Given the description of an element on the screen output the (x, y) to click on. 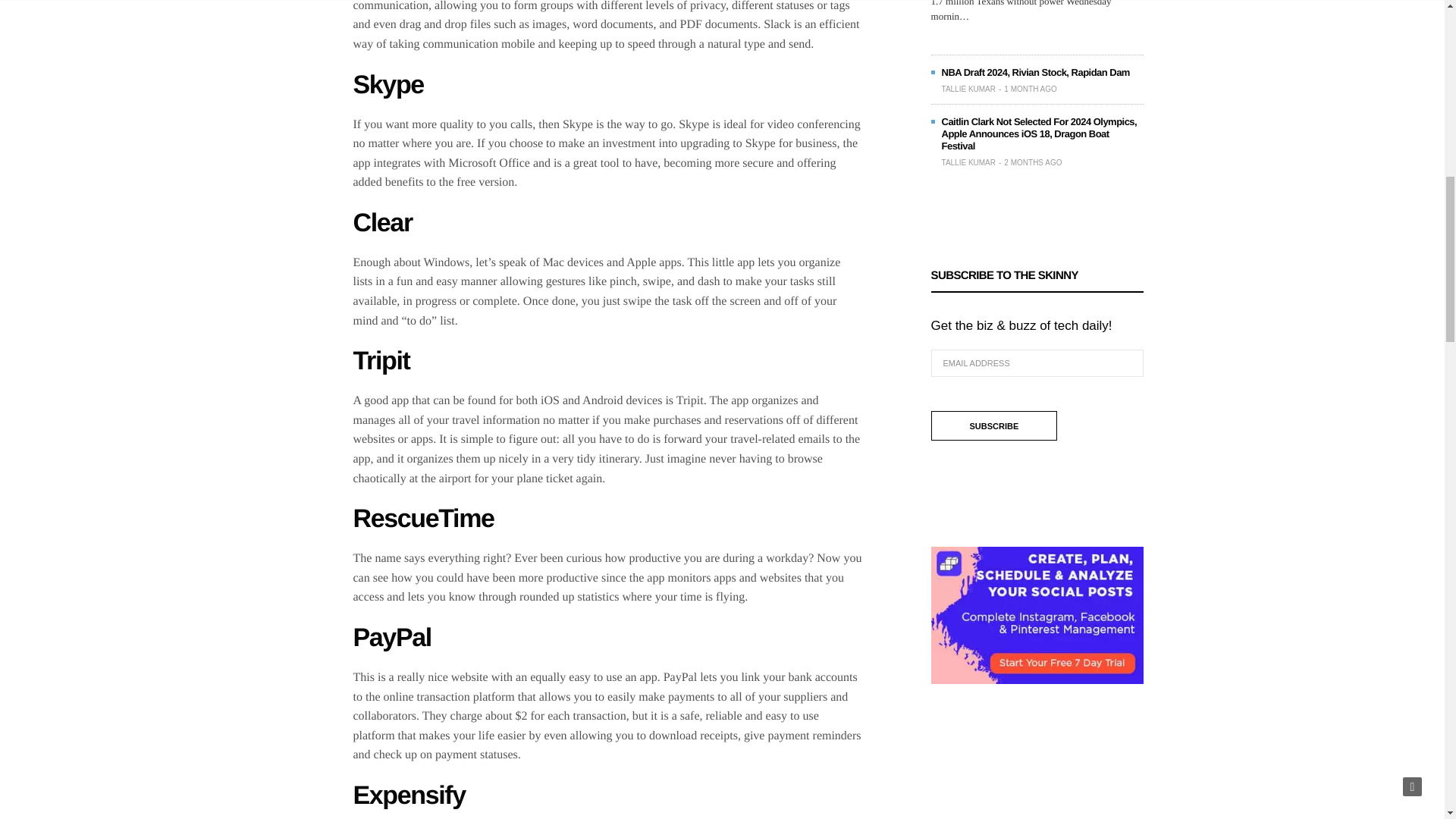
Subscribe (994, 425)
